Given the description of an element on the screen output the (x, y) to click on. 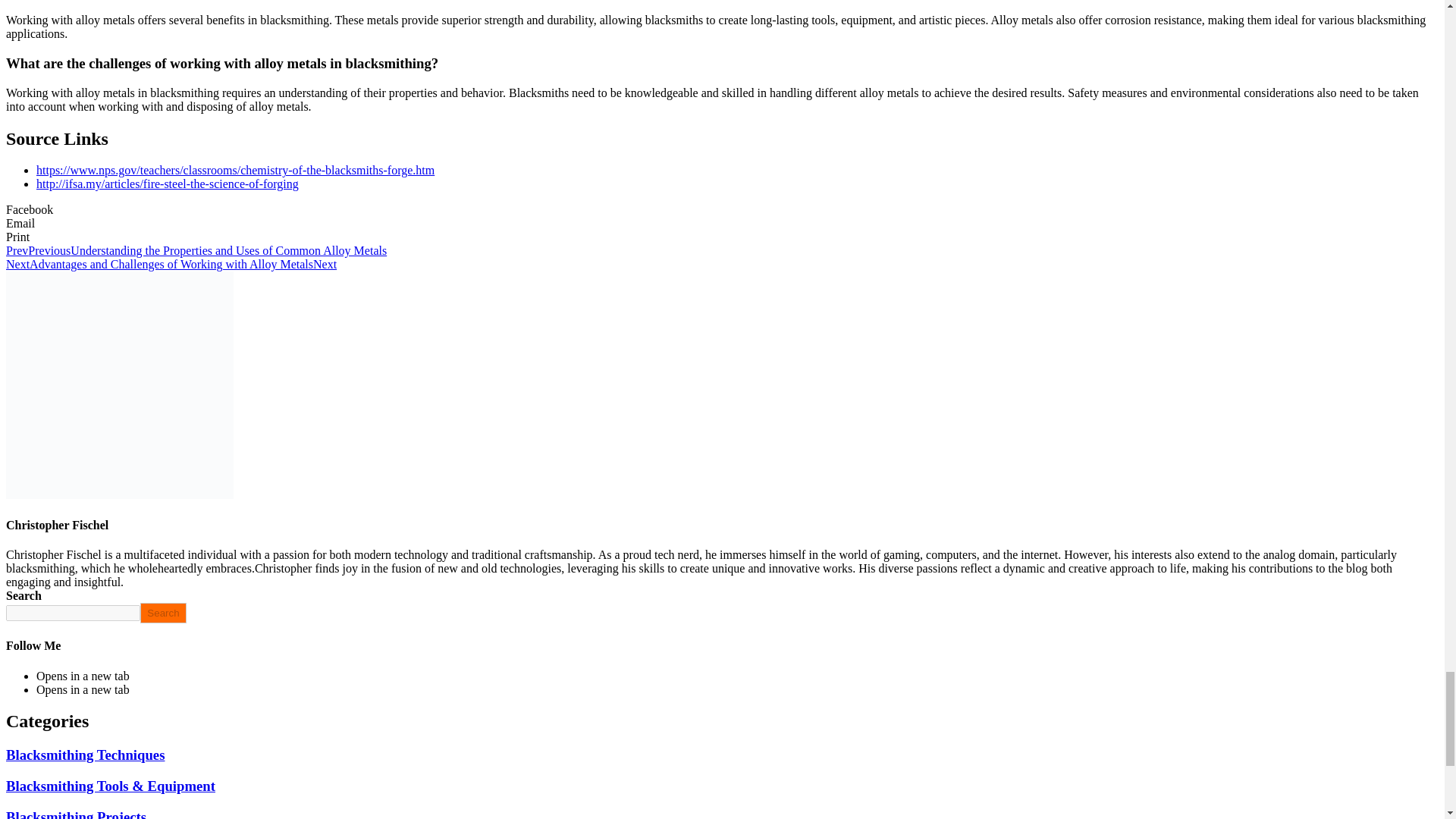
Blacksmithing Projects (76, 814)
Search (162, 612)
Blacksmithing Techniques (84, 754)
